Given the description of an element on the screen output the (x, y) to click on. 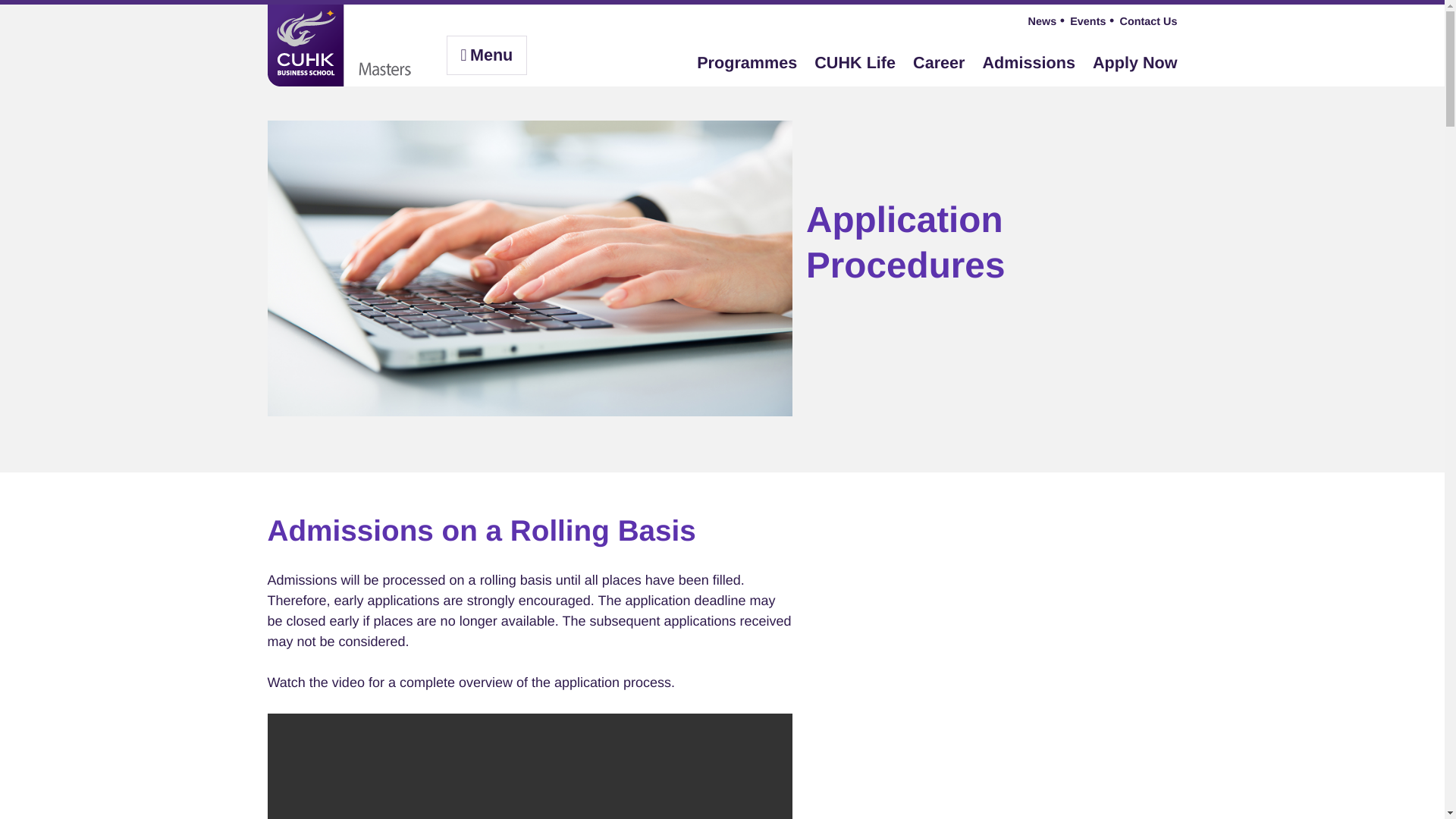
Events (1087, 21)
Apply Now (1135, 57)
Programmes (746, 57)
Admissions (1028, 57)
Menu (486, 55)
Contact Us (1148, 21)
News (1042, 21)
CUHK Life (854, 57)
Career (937, 57)
